Given the description of an element on the screen output the (x, y) to click on. 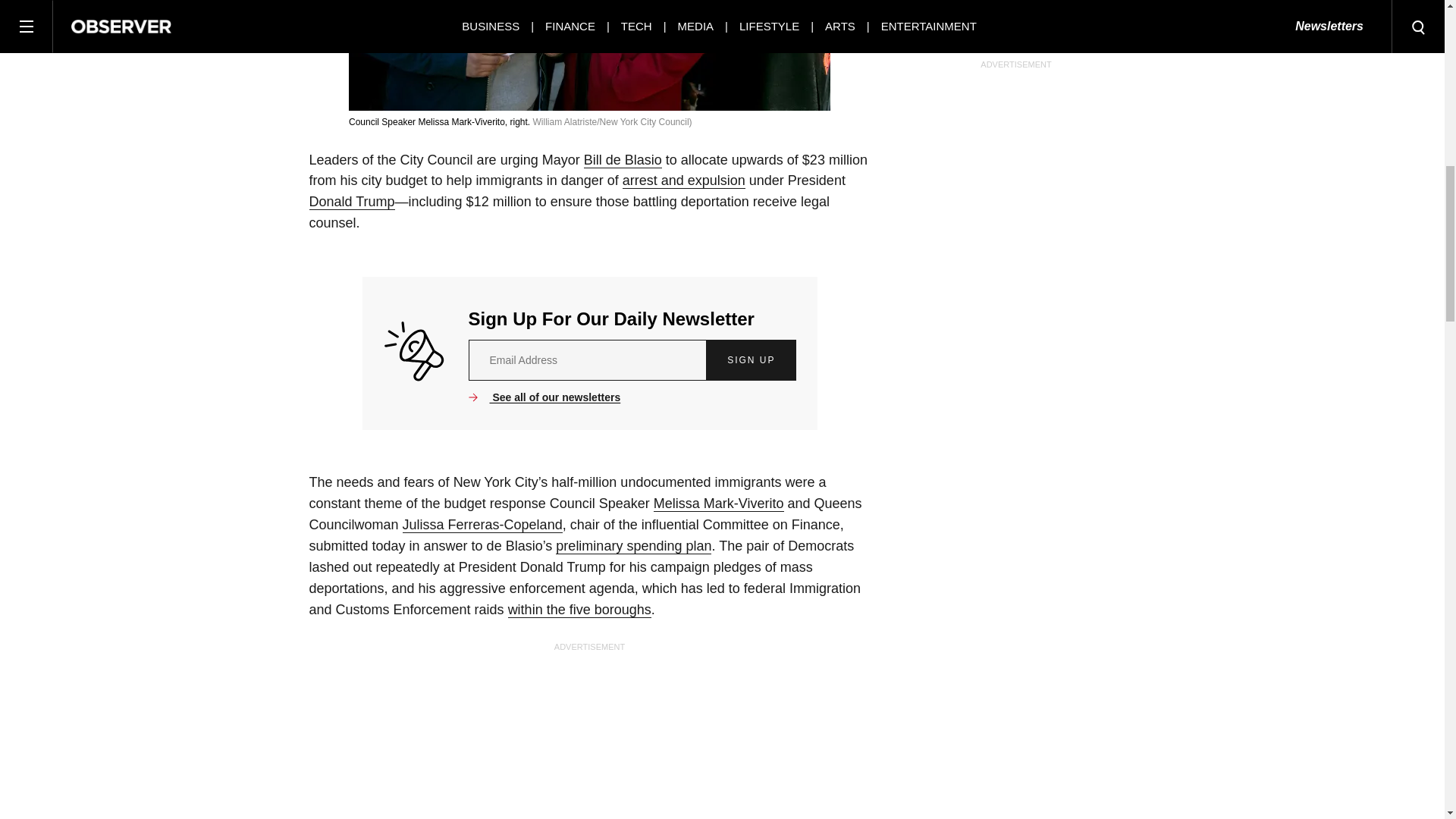
Melissa Mark-Viverito (718, 503)
Donald Trump (351, 201)
Julissa Ferreras-Copeland (482, 524)
Bill de Blasio (622, 160)
